Given the description of an element on the screen output the (x, y) to click on. 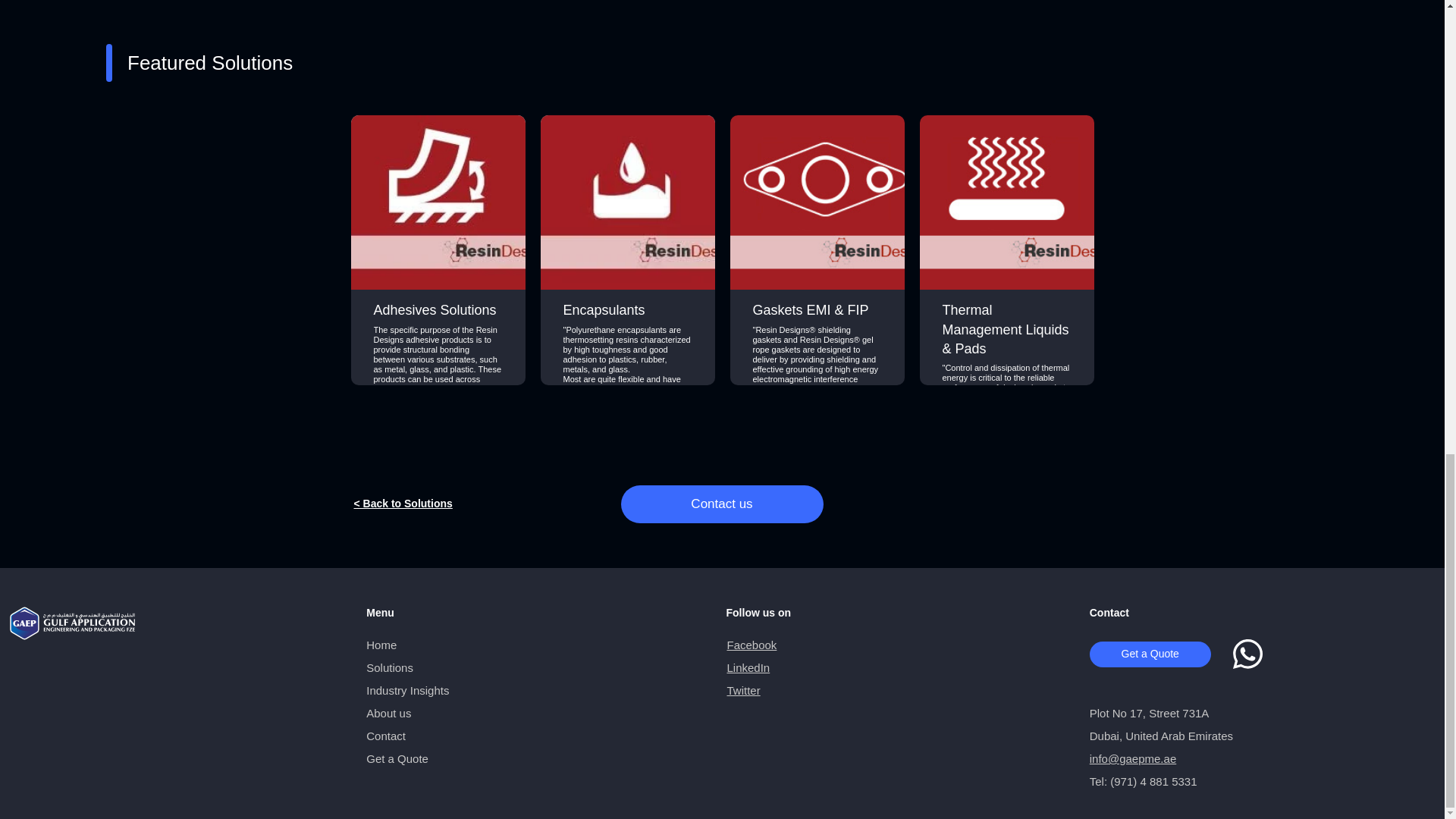
Industry Insights (407, 689)
LinkedIn (748, 667)
Twitter (743, 689)
Contact us (721, 504)
Contact (386, 735)
Get a Quote (397, 758)
Solutions (389, 667)
About us (388, 712)
Home (381, 644)
Facebook (751, 644)
